Given the description of an element on the screen output the (x, y) to click on. 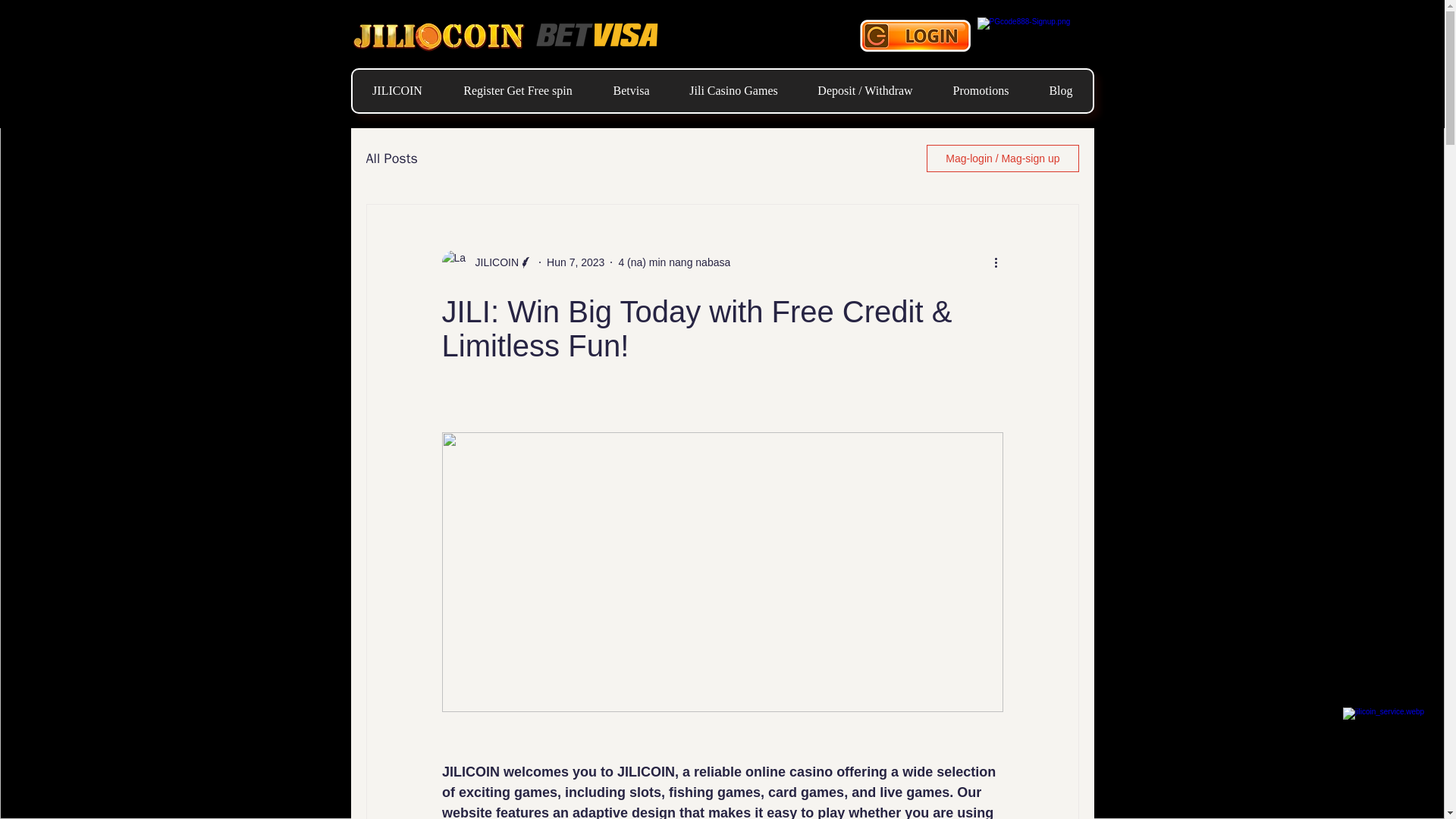
Hun 7, 2023 (575, 262)
Register Get Free spin (517, 90)
Blog (1059, 90)
All Posts (390, 158)
Promotions (981, 90)
Betvisa (630, 90)
JILICOIN (397, 90)
JILICOIN (491, 262)
